Given the description of an element on the screen output the (x, y) to click on. 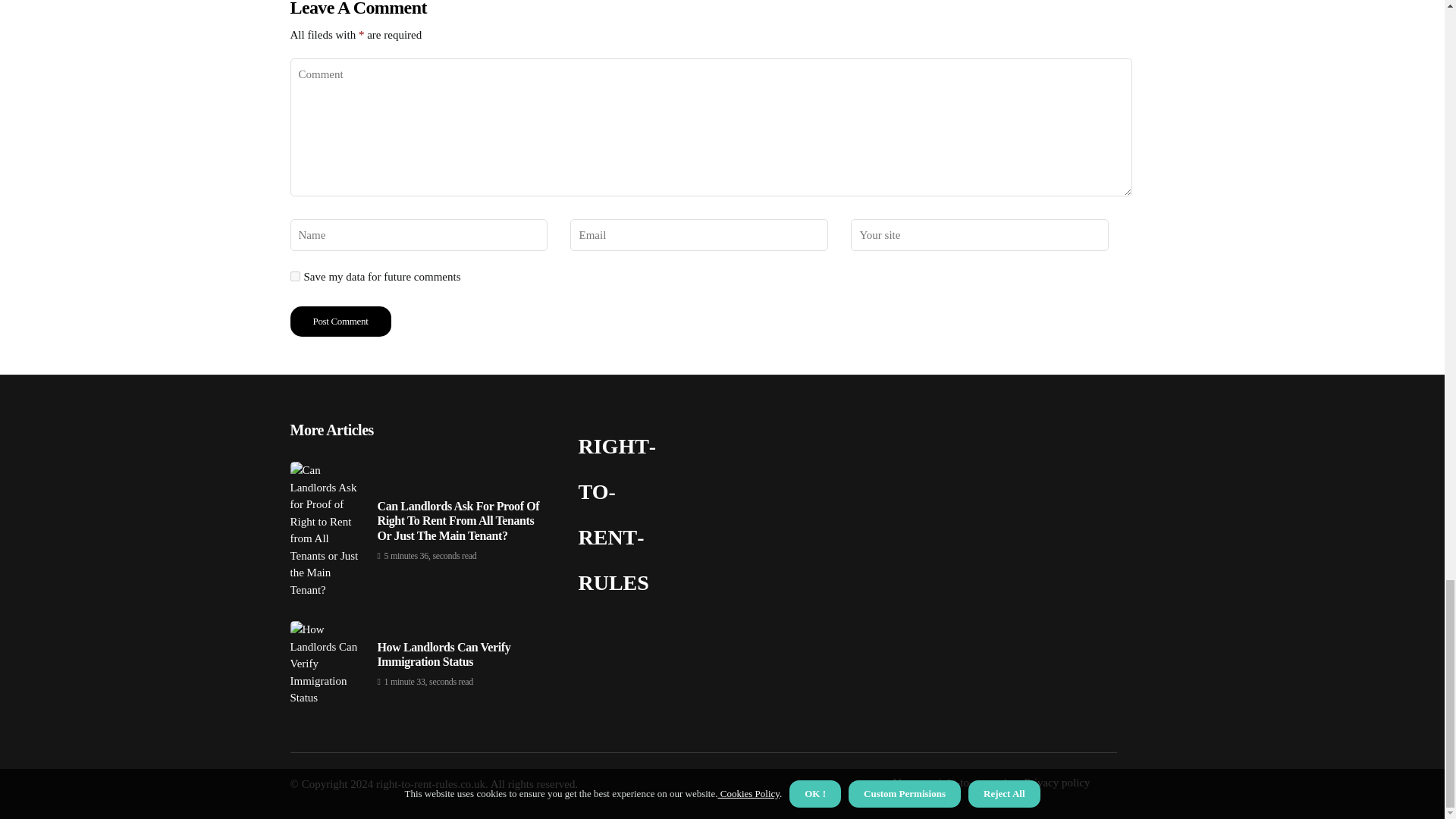
Post Comment (339, 321)
yes (294, 276)
Post Comment (339, 321)
